Given the description of an element on the screen output the (x, y) to click on. 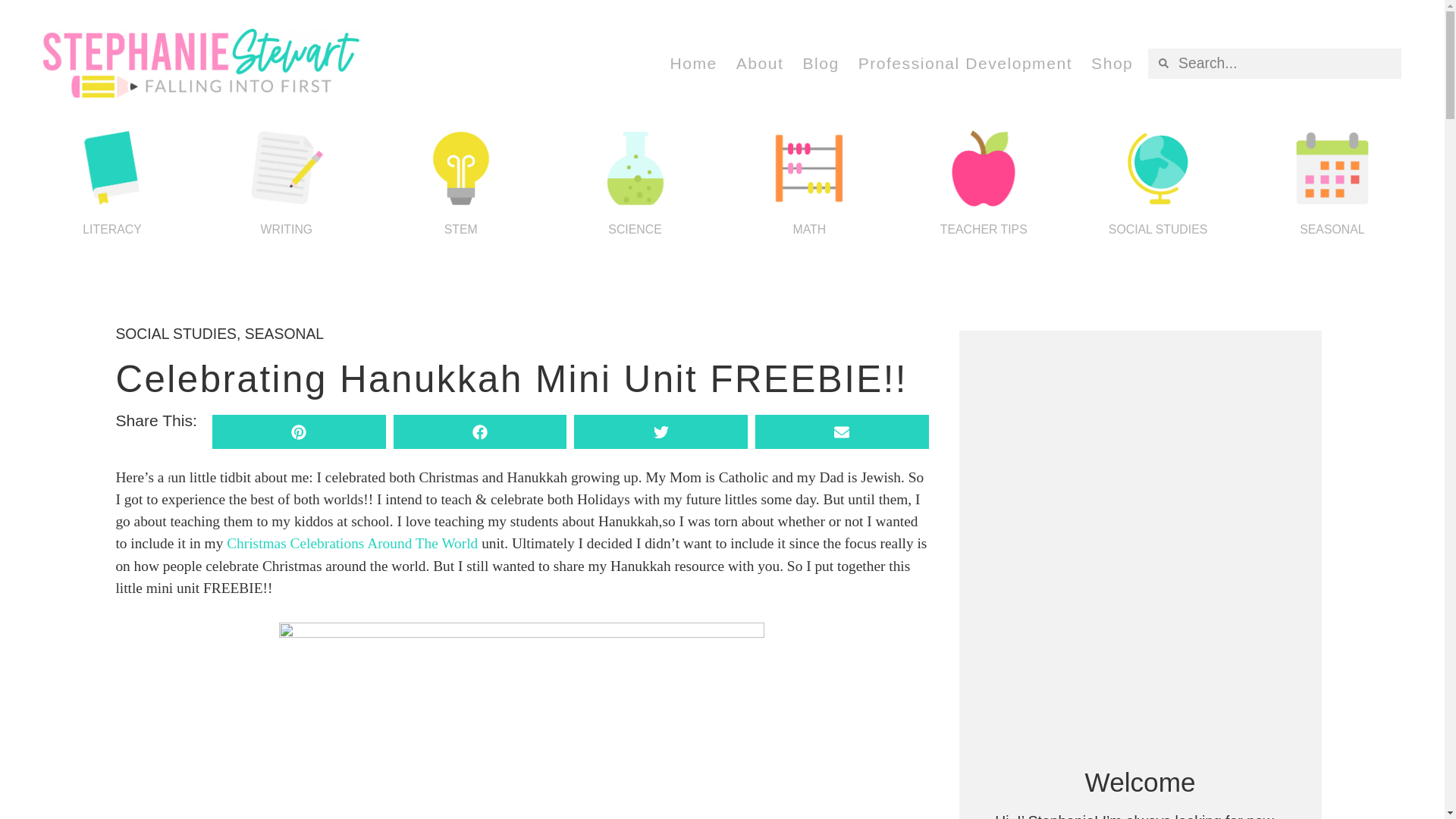
Home (692, 63)
MATH (810, 228)
Professional Development (965, 63)
STEM (460, 228)
About (760, 63)
SCIENCE (634, 228)
Shop (1111, 63)
WRITING (286, 228)
Blog (820, 63)
LITERACY (111, 228)
